Given the description of an element on the screen output the (x, y) to click on. 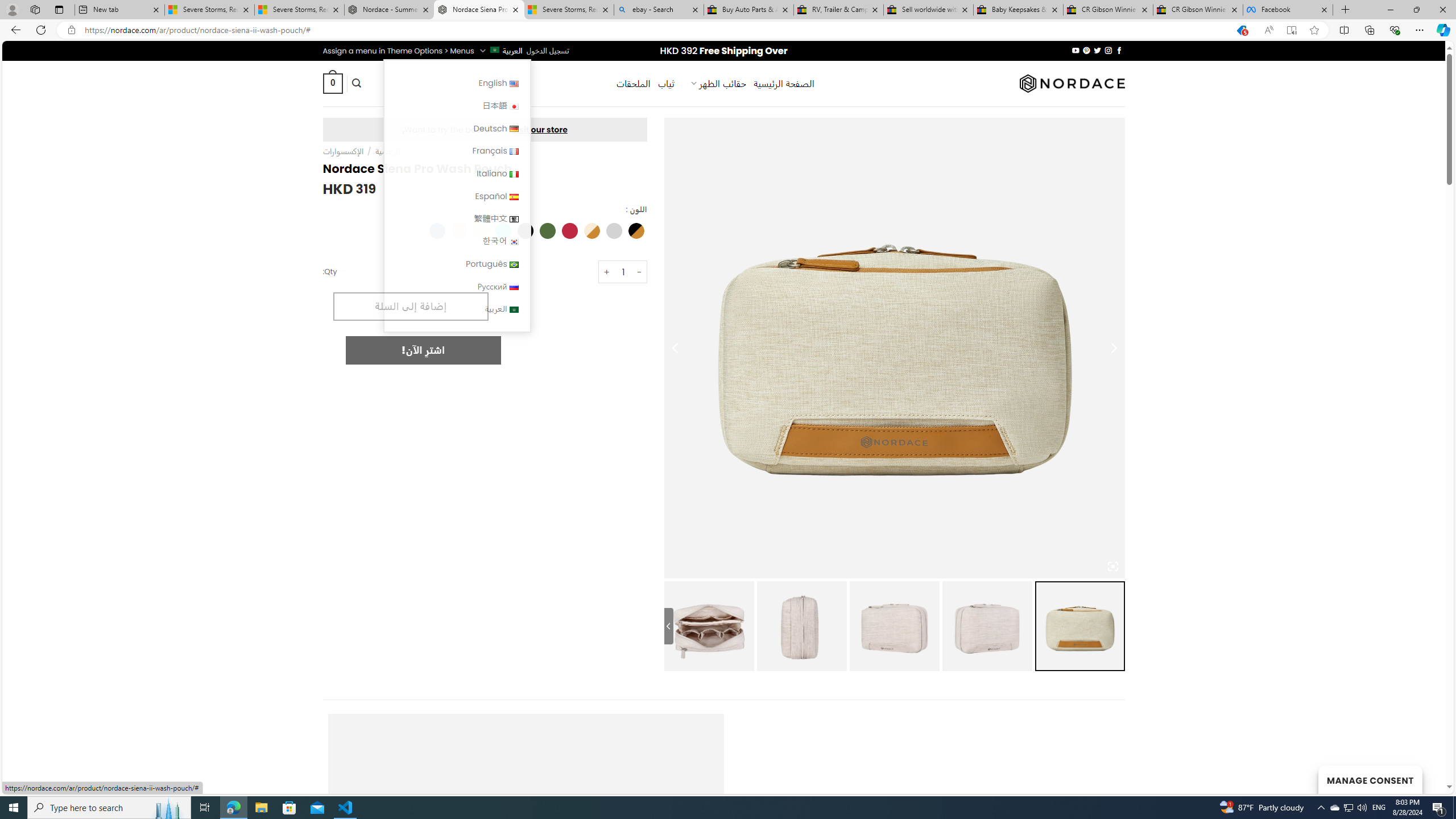
Follow on Pinterest (1086, 50)
Personal Profile (12, 9)
Follow on Instagram (1108, 50)
Follow on Facebook (1118, 50)
+ (606, 272)
Deutsch Deutsch (456, 128)
Restore (1416, 9)
  0   (332, 83)
Assign a menu in Theme Options > Menus (397, 50)
